Given the description of an element on the screen output the (x, y) to click on. 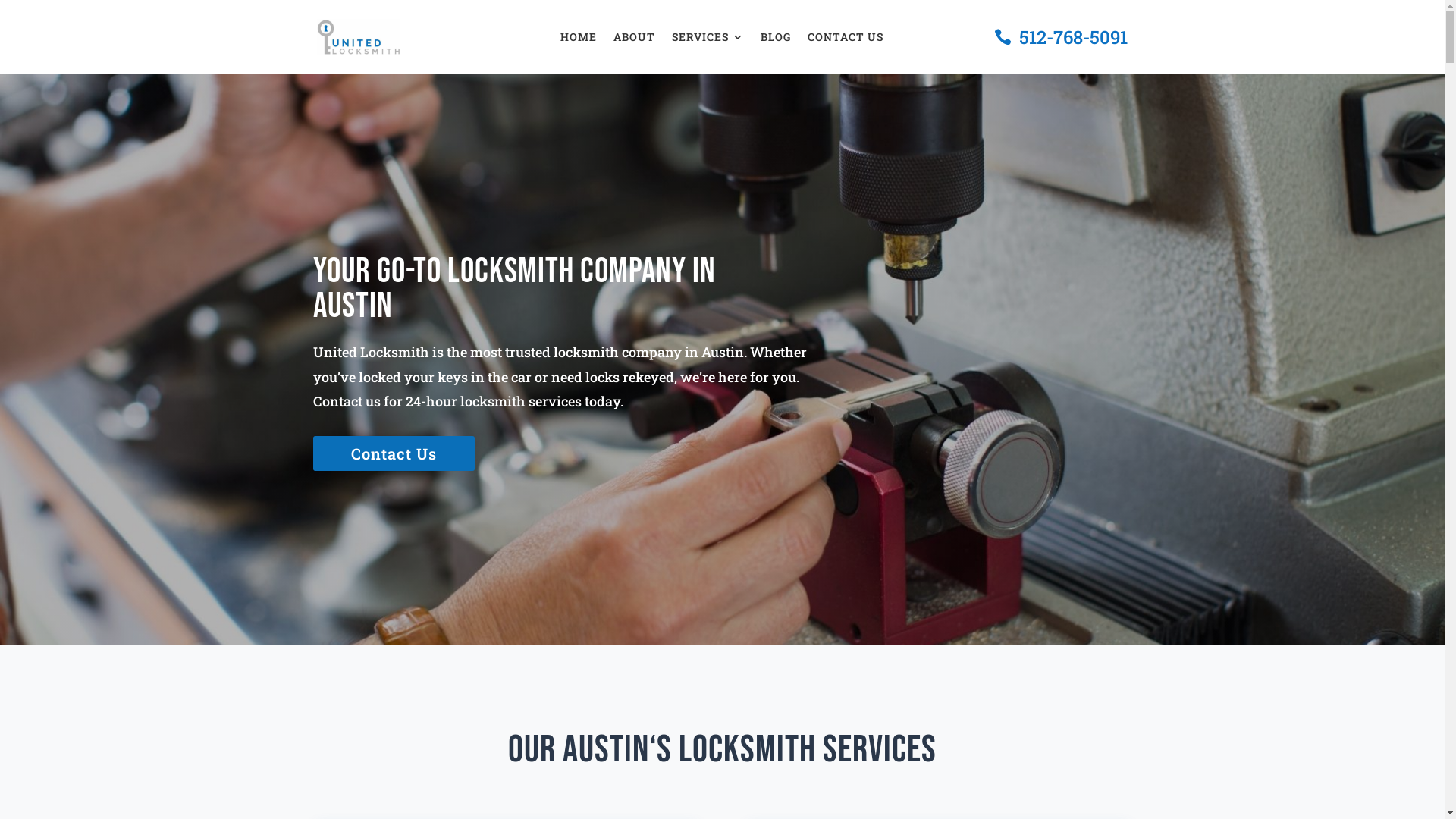
HOME Element type: text (578, 39)
CONTACT US Element type: text (845, 39)
Contact Us Element type: text (392, 453)
24-7 United Locksmith Logo Element type: hover (358, 36)
SERVICES Element type: text (707, 39)
BLOG Element type: text (775, 39)
ABOUT Element type: text (634, 39)
